Given the description of an element on the screen output the (x, y) to click on. 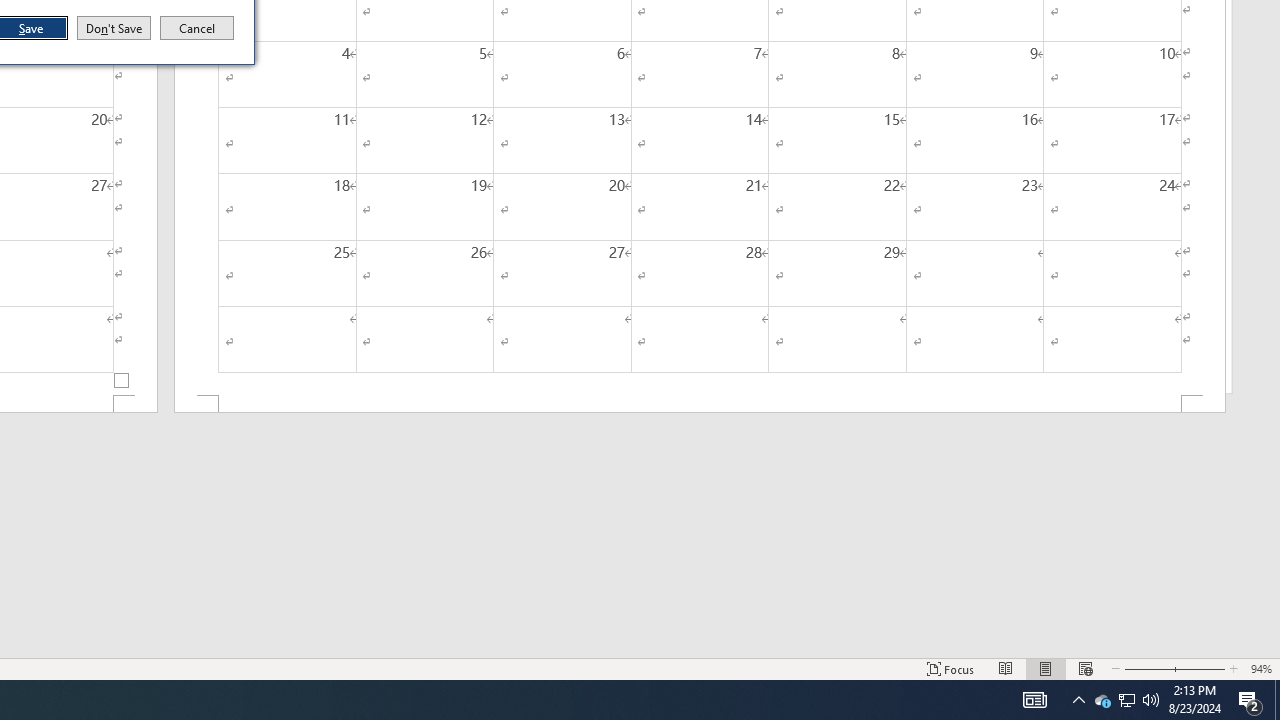
Focus  (951, 668)
AutomationID: 4105 (1034, 699)
Print Layout (1046, 668)
Footer -Section 2- (700, 404)
Read Mode (1005, 668)
Show desktop (1277, 699)
Zoom In (1199, 668)
Action Center, 2 new notifications (1250, 699)
User Promoted Notification Area (1126, 699)
Q2790: 100% (1151, 699)
